Given the description of an element on the screen output the (x, y) to click on. 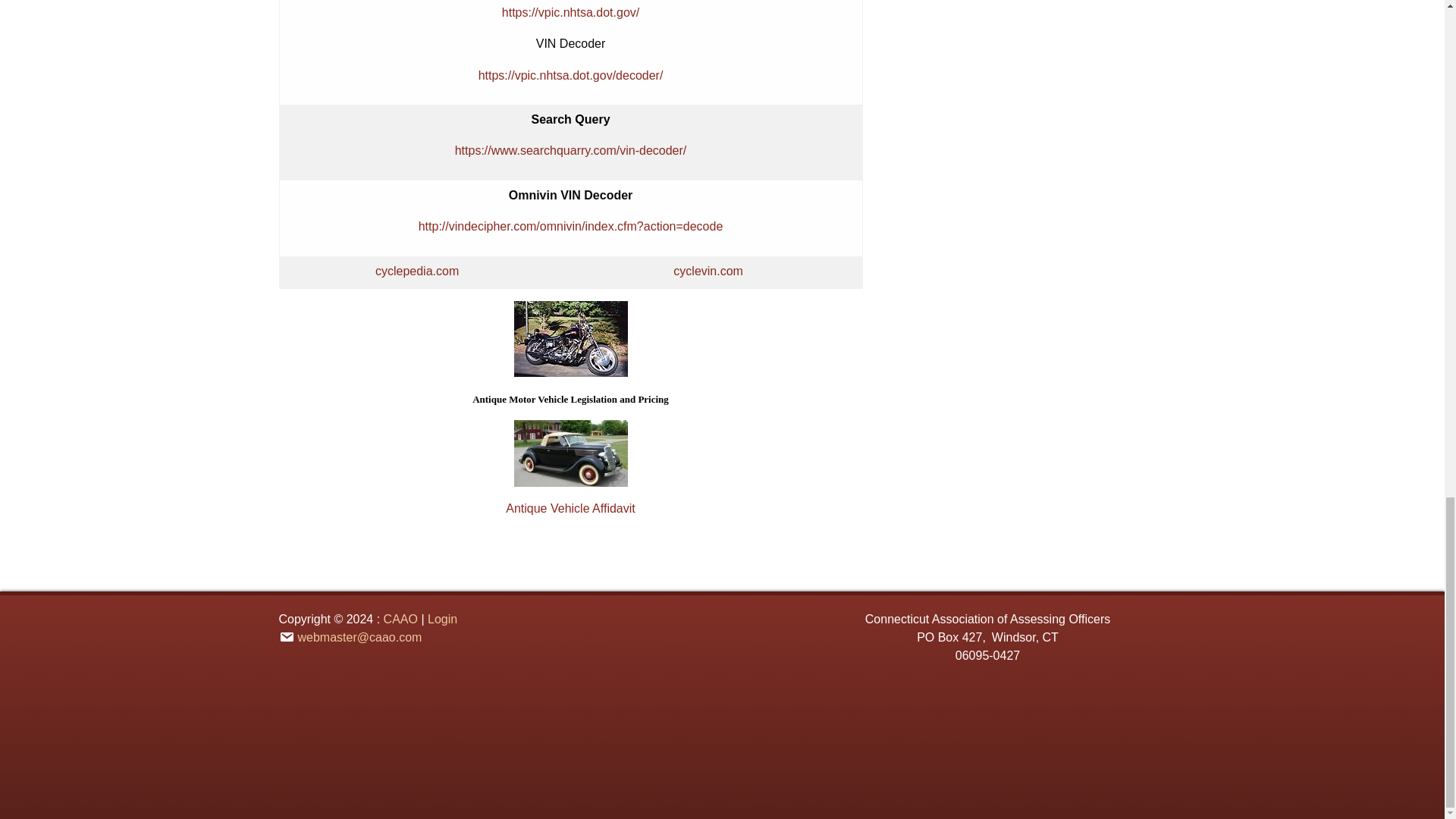
Login (442, 618)
